Given the description of an element on the screen output the (x, y) to click on. 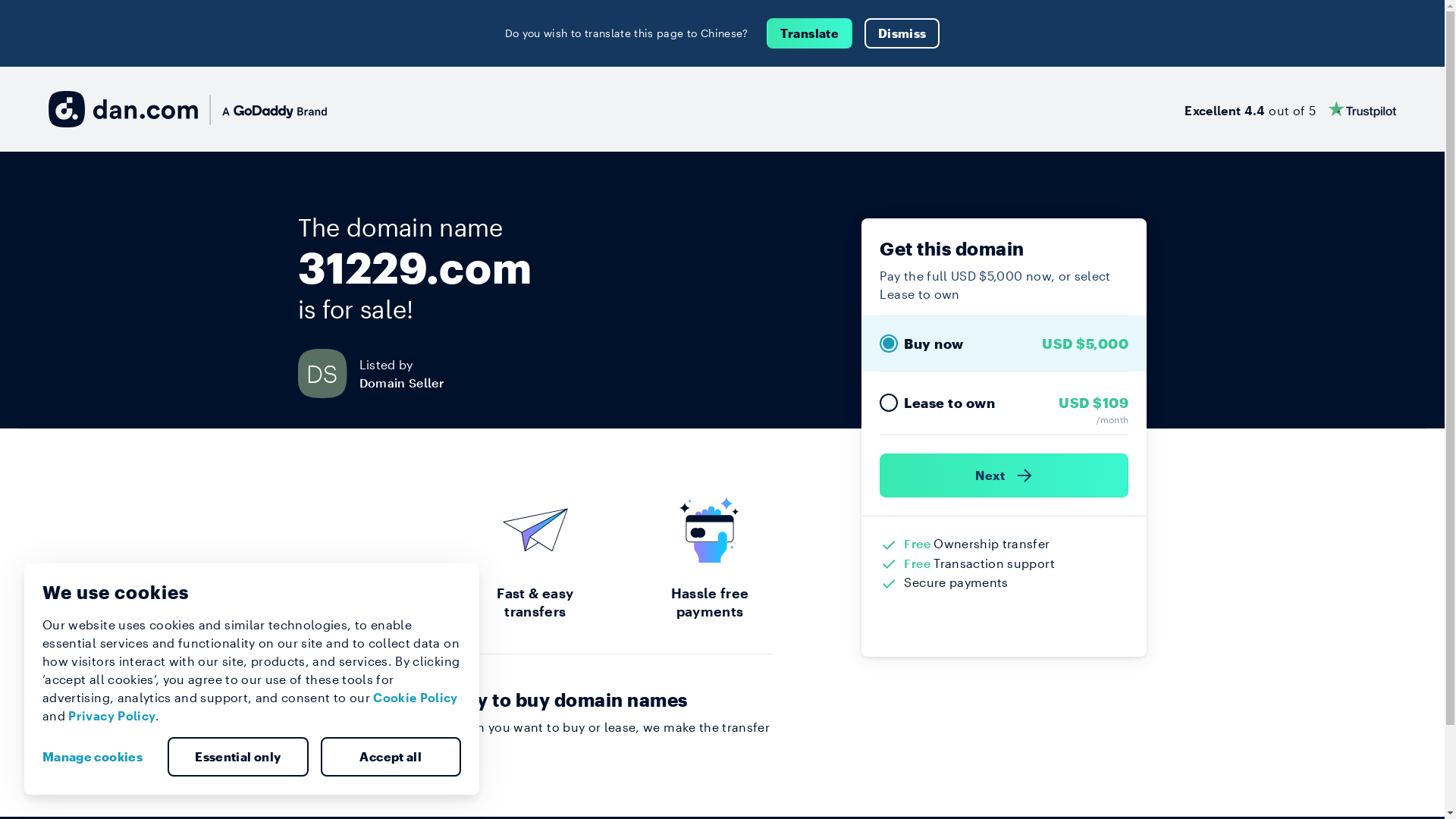
Accept all Element type: text (390, 756)
Manage cookies Element type: text (98, 756)
Privacy Policy Element type: text (111, 715)
Dismiss Element type: text (901, 33)
Translate Element type: text (809, 33)
Excellent 4.4 out of 5 Element type: text (1290, 109)
Essential only Element type: text (237, 756)
Next
) Element type: text (1003, 475)
Cookie Policy Element type: text (415, 697)
